Given the description of an element on the screen output the (x, y) to click on. 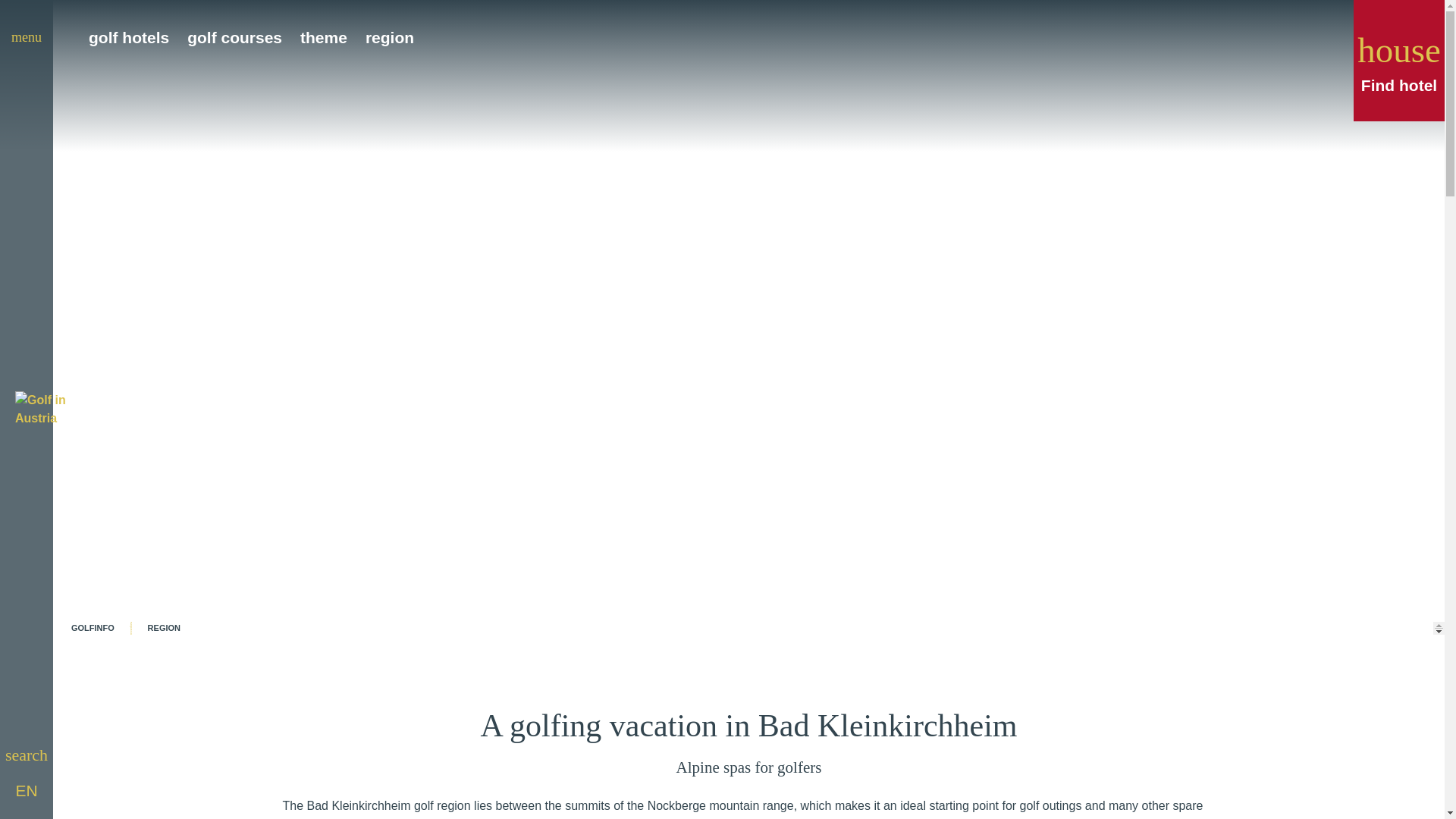
golf hotels (128, 36)
Golfinfo (93, 627)
REGION (164, 627)
region (389, 36)
theme (323, 36)
golf courses (234, 36)
region (164, 627)
GOLFINFO (93, 627)
